Given the description of an element on the screen output the (x, y) to click on. 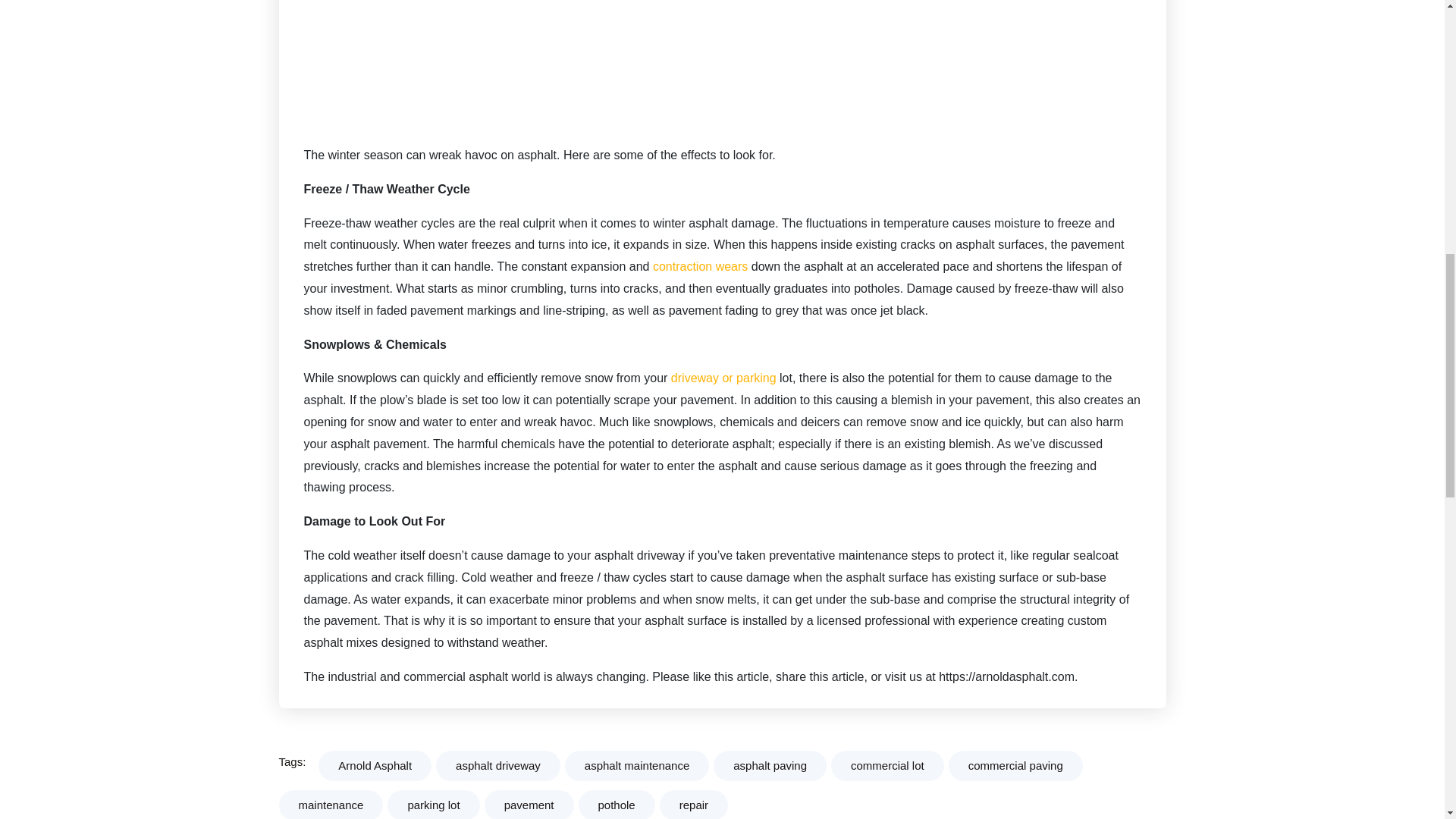
commercial lot (887, 766)
contraction wears (700, 266)
asphalt maintenance (636, 766)
commercial paving (1016, 766)
asphalt paving (770, 766)
driveway or parking (721, 377)
Arnold Asphalt (374, 766)
asphalt driveway (497, 766)
